Given the description of an element on the screen output the (x, y) to click on. 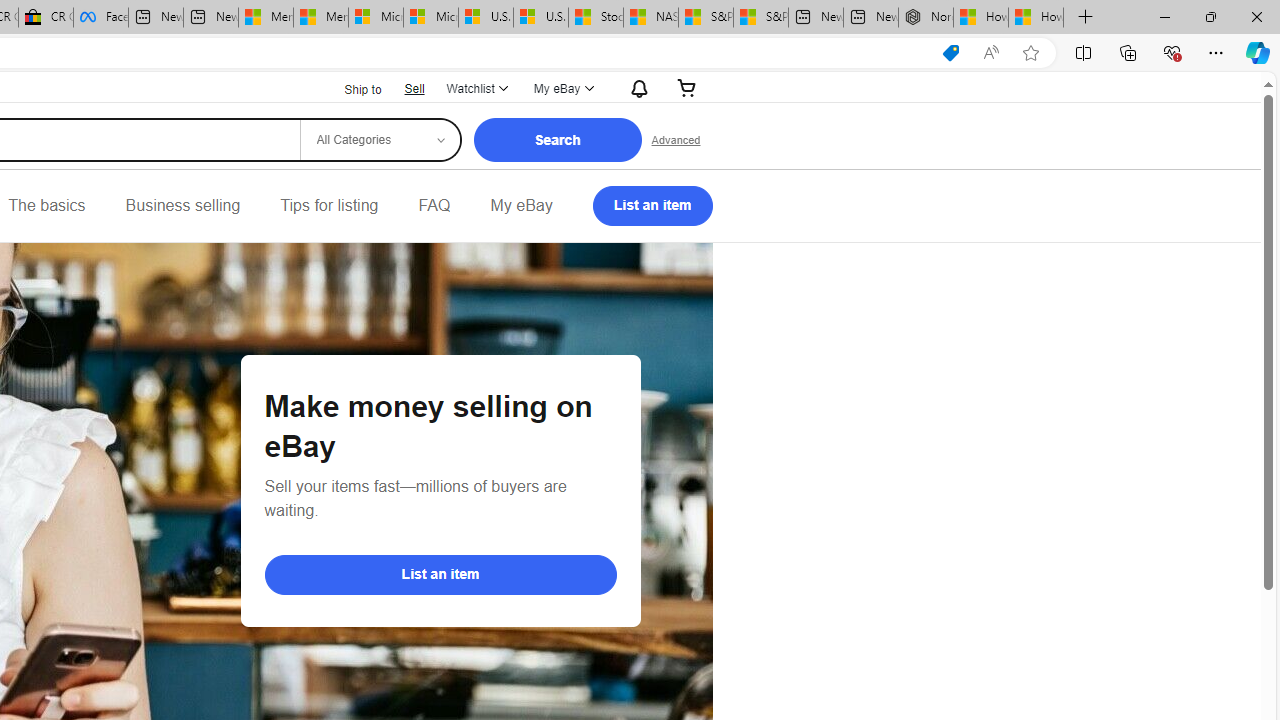
Facebook (100, 17)
Sell (413, 87)
Select a category for search (379, 139)
